Given the description of an element on the screen output the (x, y) to click on. 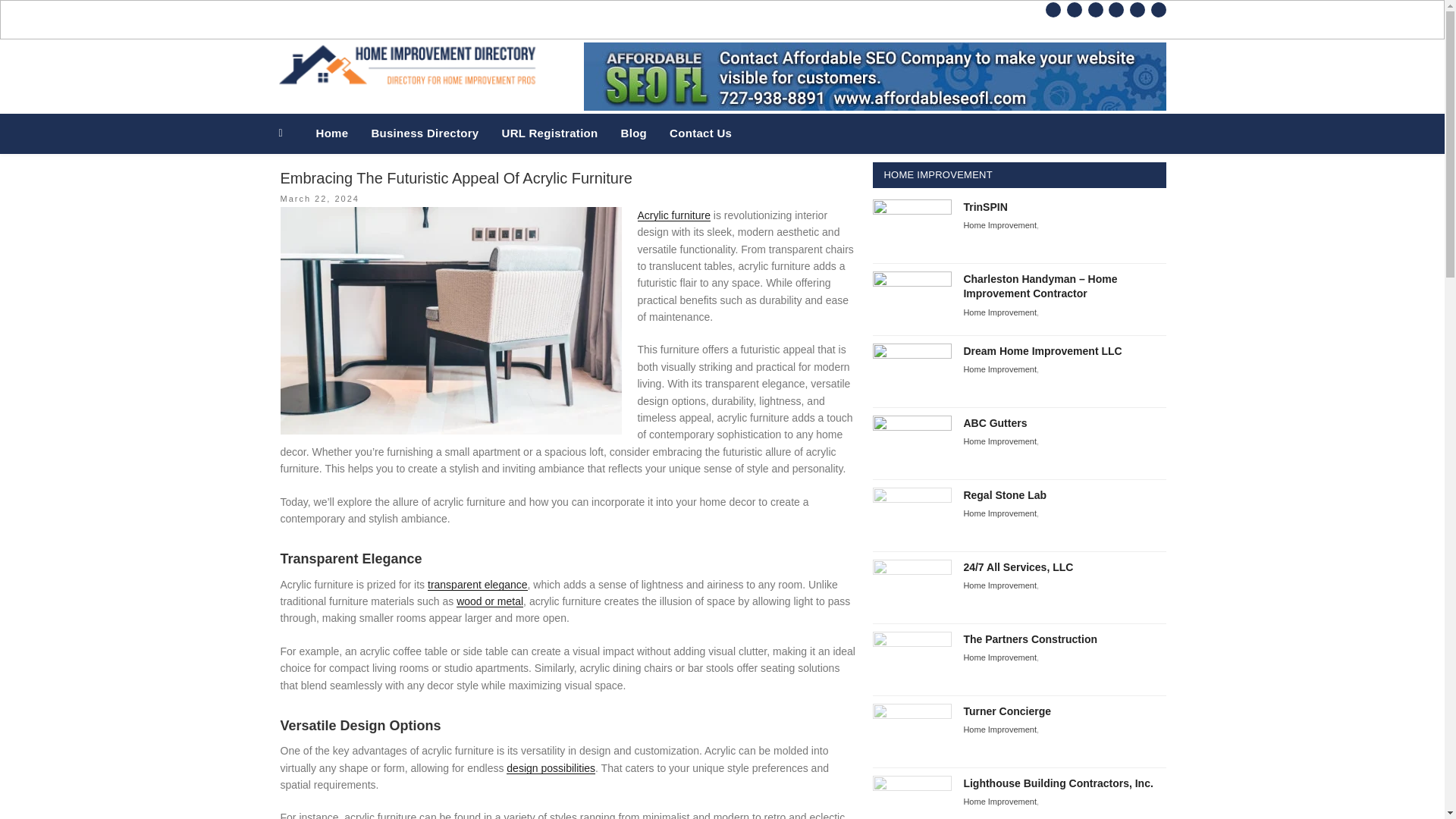
March 22, 2024 (320, 180)
Home Improvement (999, 206)
Home Improvement (999, 762)
transparent elegance (477, 566)
URL Registration (548, 115)
tumblr (1116, 9)
twitter (1074, 9)
TrinSPIN (984, 187)
Home Improvement (999, 599)
Contact Us (700, 115)
Home Improvement (999, 320)
Acrylic furniture (673, 196)
design possibilities (550, 748)
Home Improvement (999, 375)
Home Improvement (999, 545)
